Given the description of an element on the screen output the (x, y) to click on. 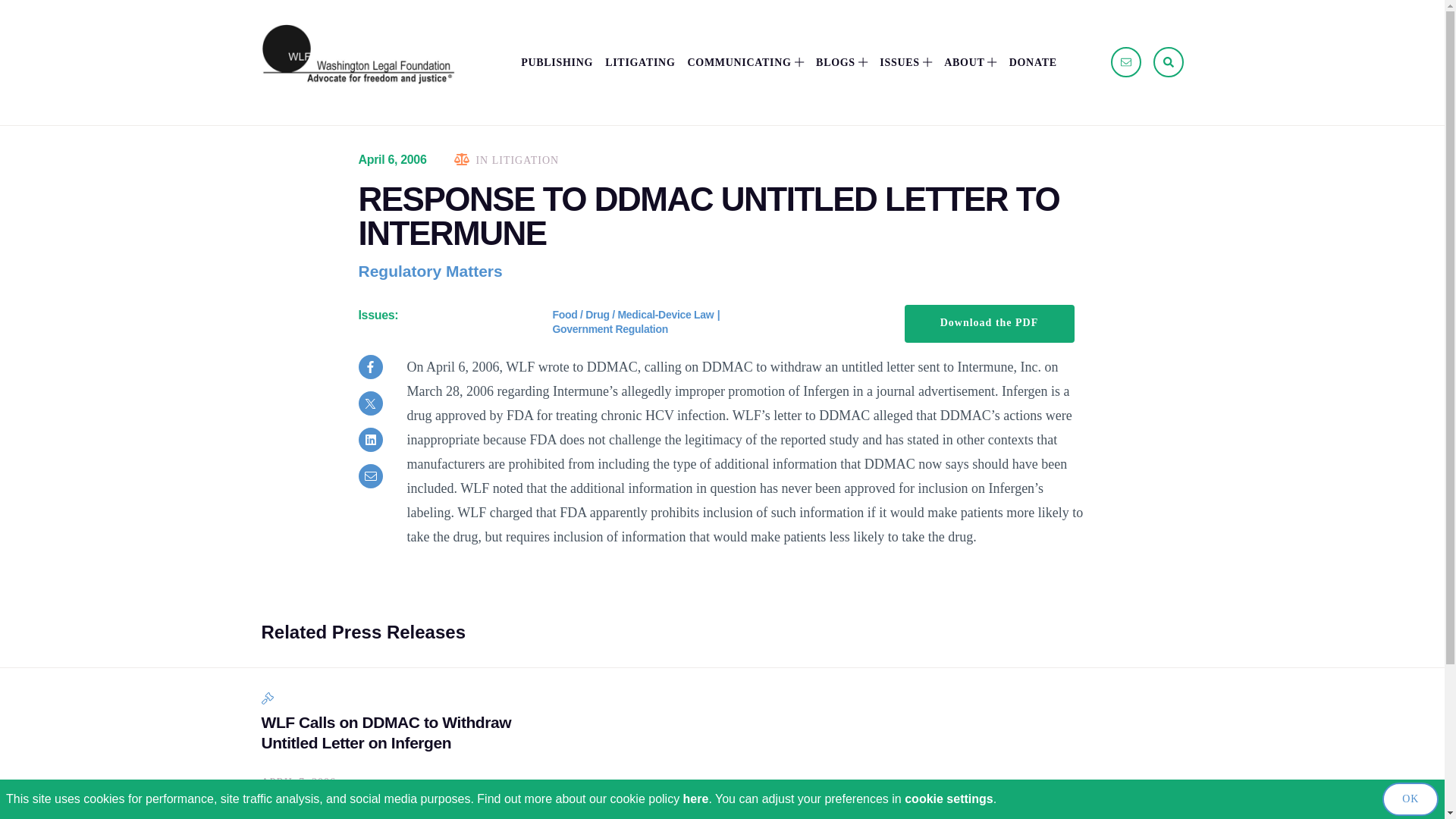
DONATE (1033, 61)
LITIGATING (640, 61)
Download the PDF (989, 323)
COMMUNICATING (745, 61)
ISSUES (905, 61)
BLOGS (841, 61)
Government Regulation (608, 328)
ABOUT (969, 61)
PUBLISHING (556, 61)
